Given the description of an element on the screen output the (x, y) to click on. 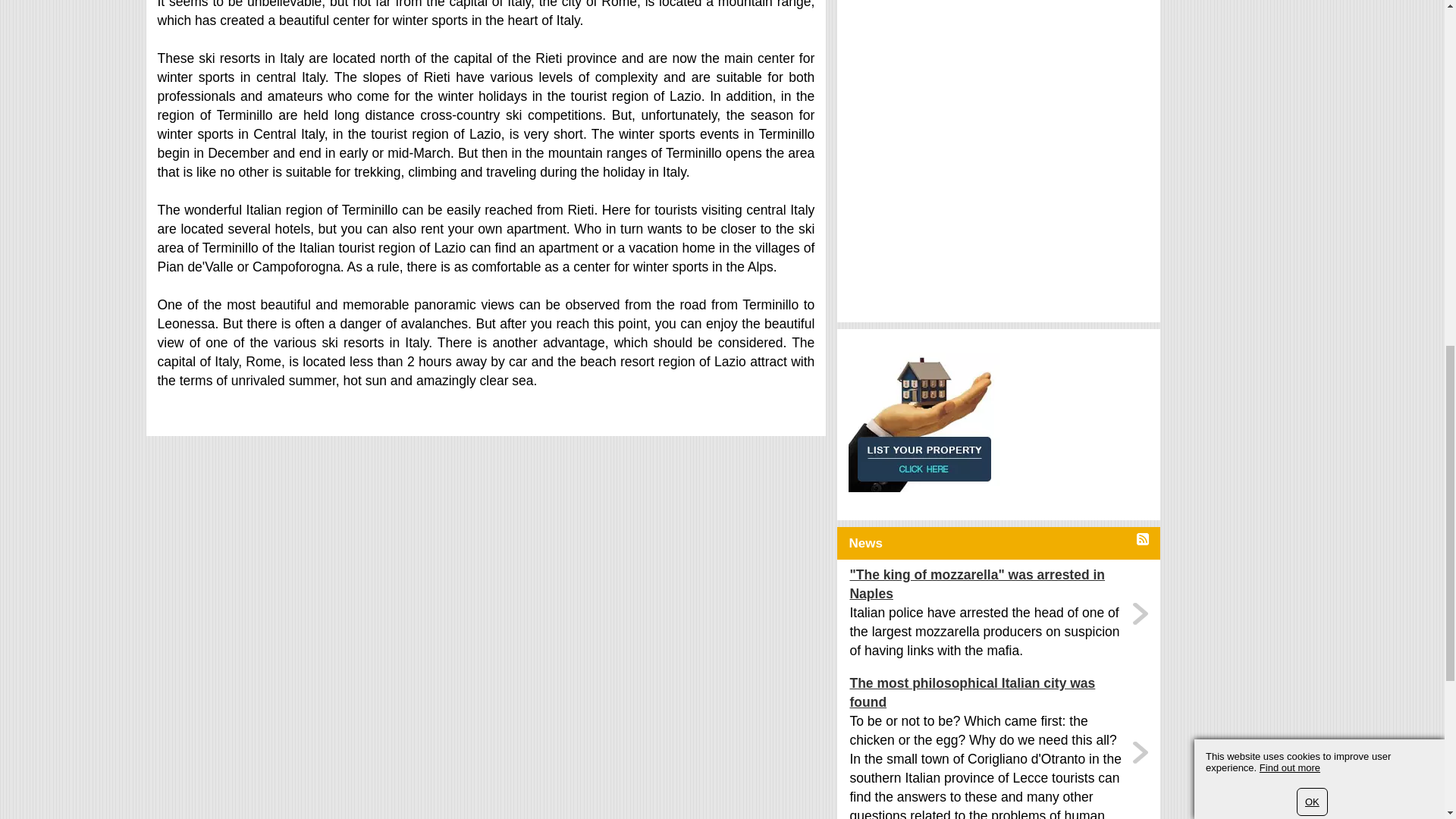
"The king of mozzarella" was arrested in Naples (988, 584)
The most philosophical Italian city was found (988, 692)
Advertisement (961, 199)
